Given the description of an element on the screen output the (x, y) to click on. 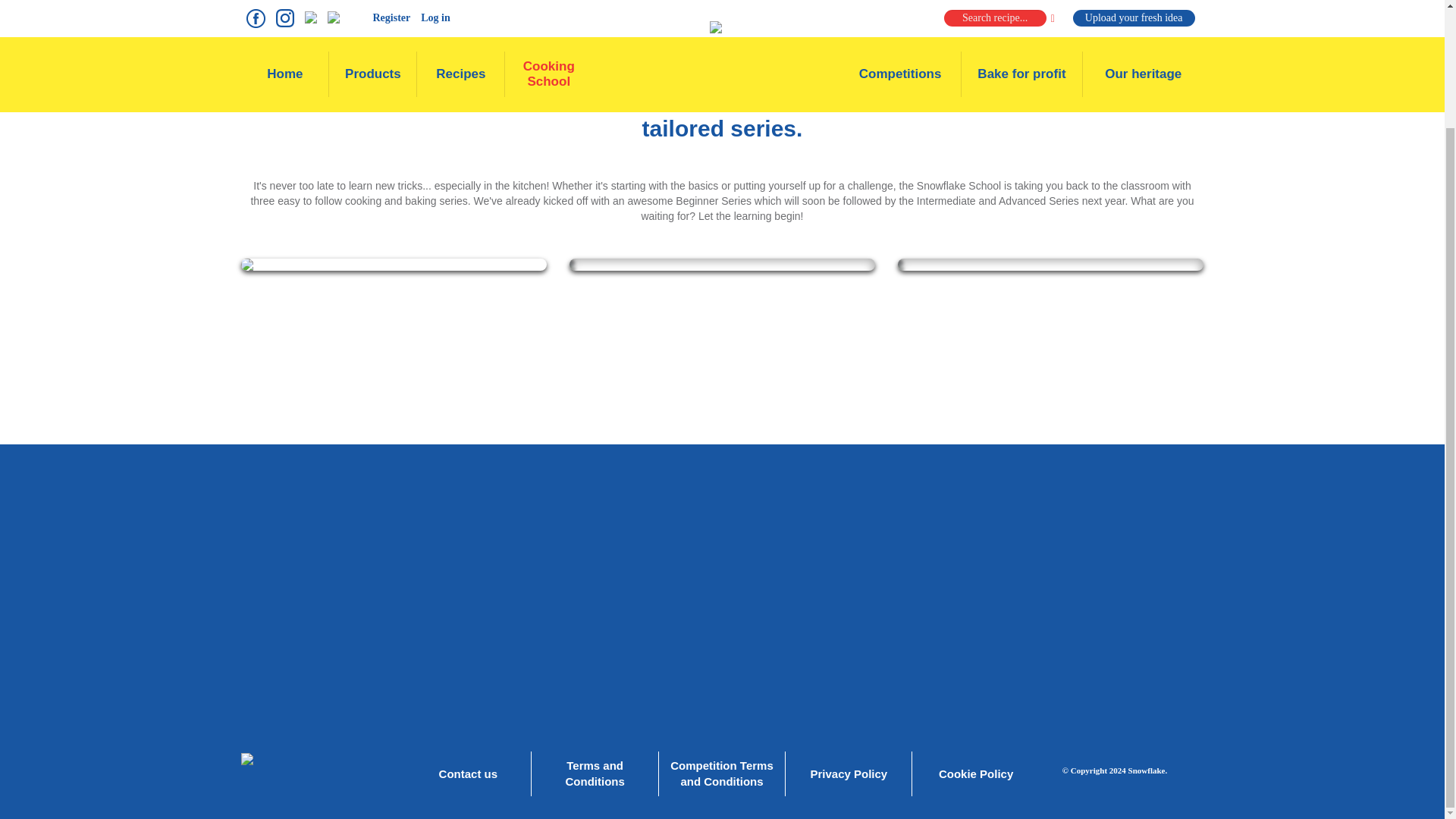
Cookie Policy (976, 773)
Contact us (467, 773)
Competition Terms and Conditions (721, 773)
Terms and Conditions (594, 773)
Privacy Policy (848, 773)
